Given the description of an element on the screen output the (x, y) to click on. 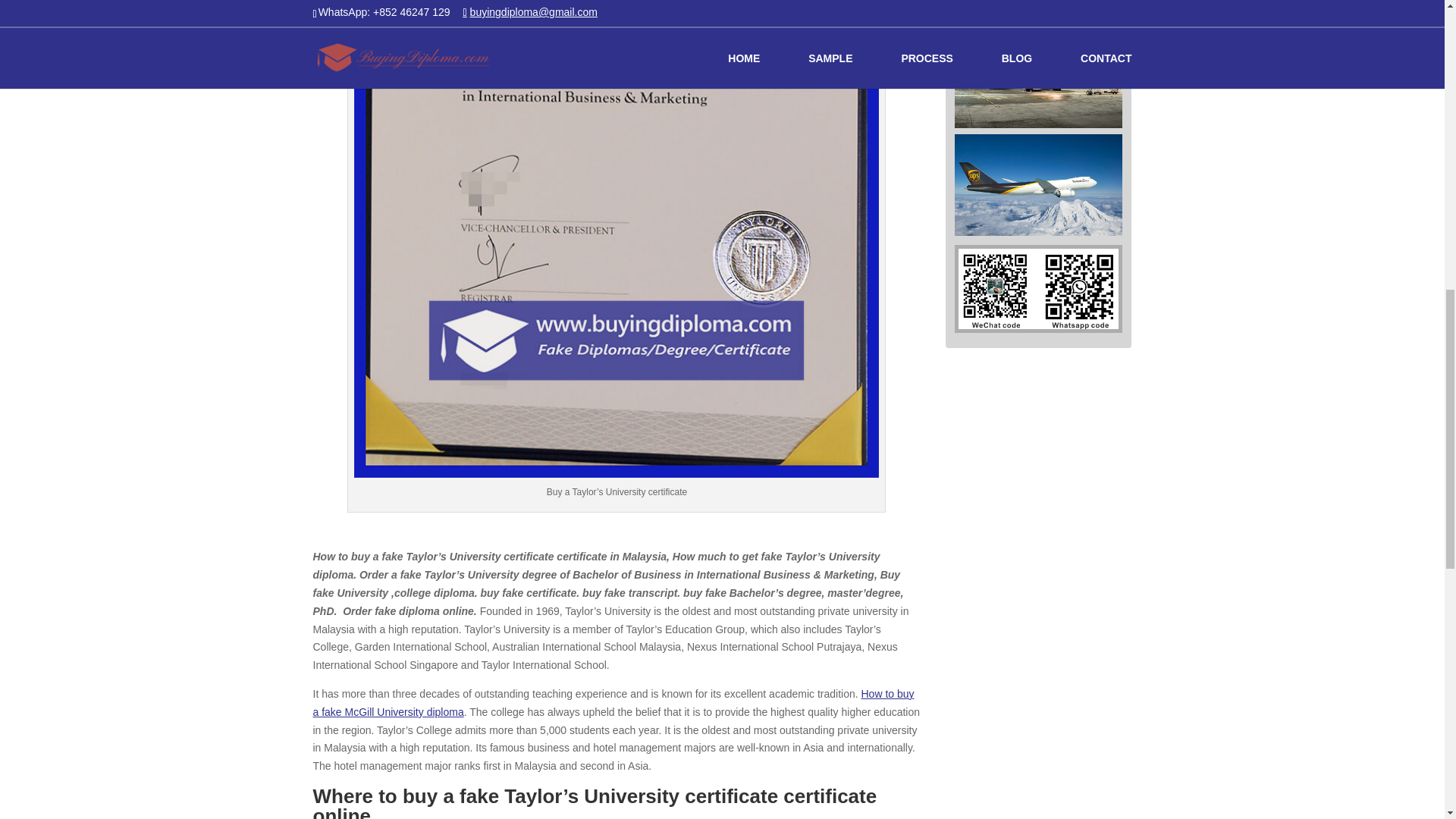
Wecha-code (1038, 288)
2d3dbff73217d4c9ed7e7cf52a4072fb (1038, 184)
How to buy a fake McGill University diploma (613, 702)
d110dcfc2a946e383fcf2c15564d892e (1038, 76)
